Given the description of an element on the screen output the (x, y) to click on. 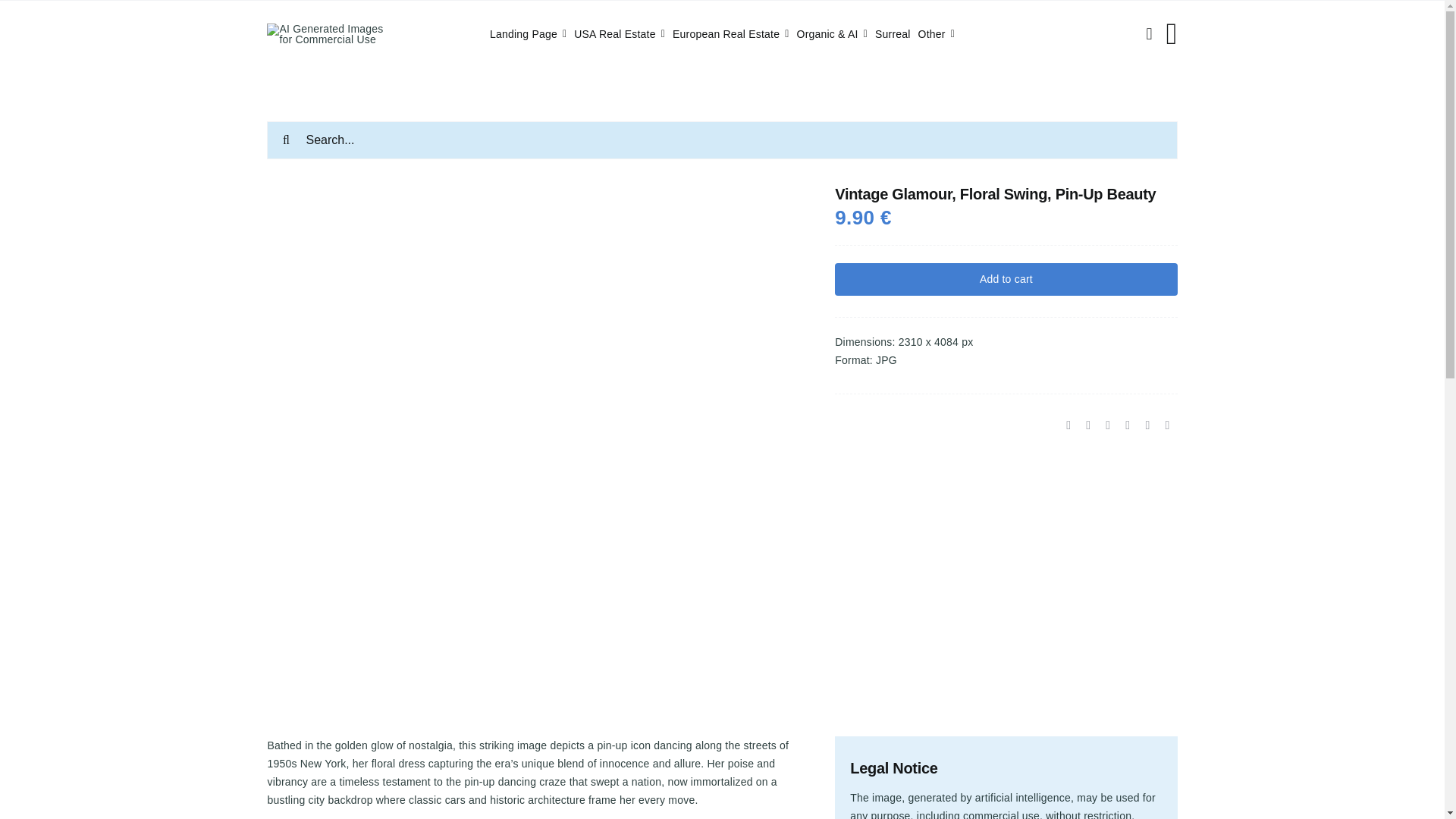
USA Real Estate (619, 34)
Facebook (1068, 424)
Email (1166, 424)
WhatsApp (1107, 424)
Pinterest (1147, 424)
X (1087, 424)
European Real Estate (730, 34)
Telegram (1127, 424)
Landing Page (527, 34)
